Given the description of an element on the screen output the (x, y) to click on. 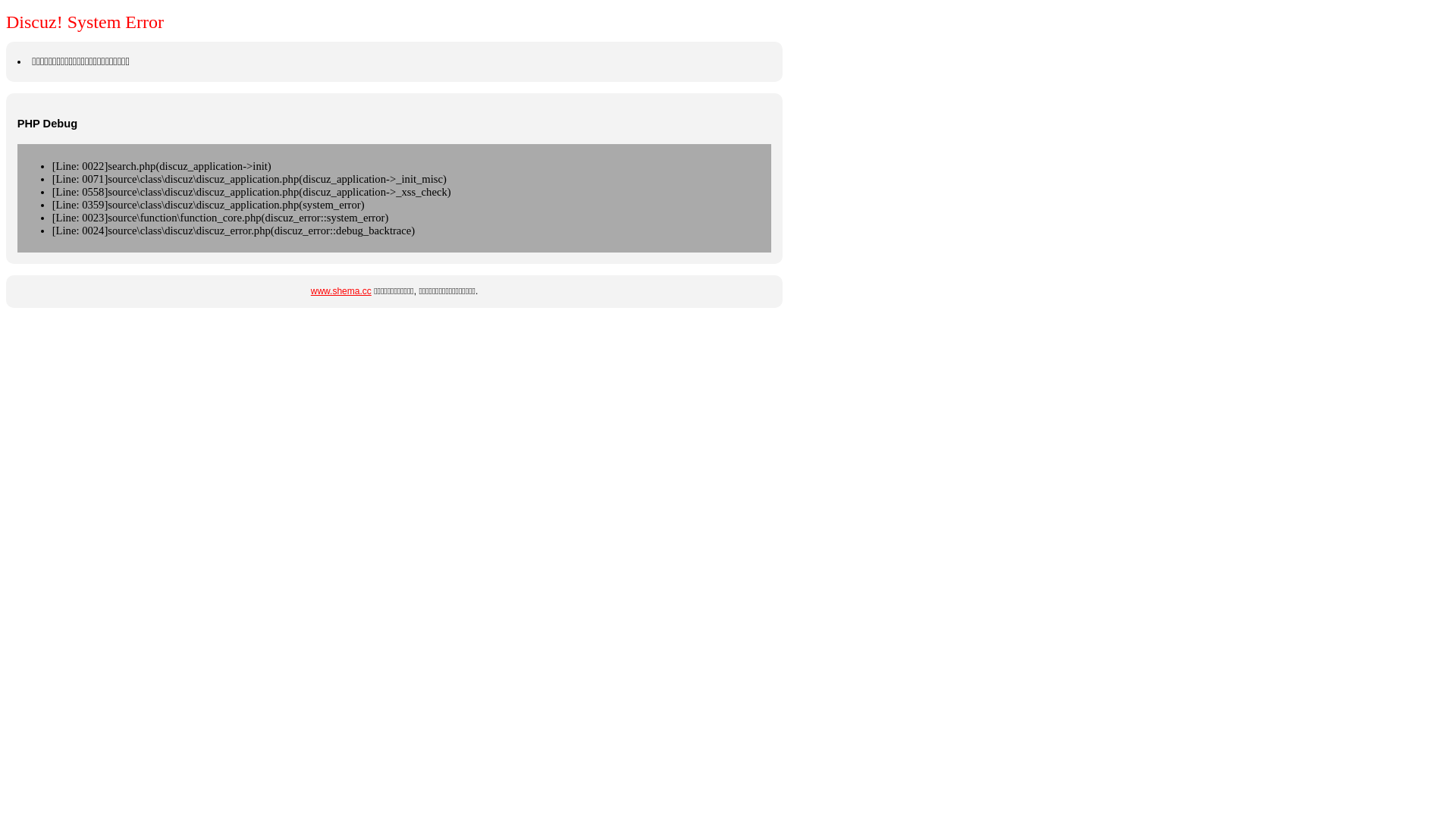
www.shema.cc Element type: text (340, 290)
